Given the description of an element on the screen output the (x, y) to click on. 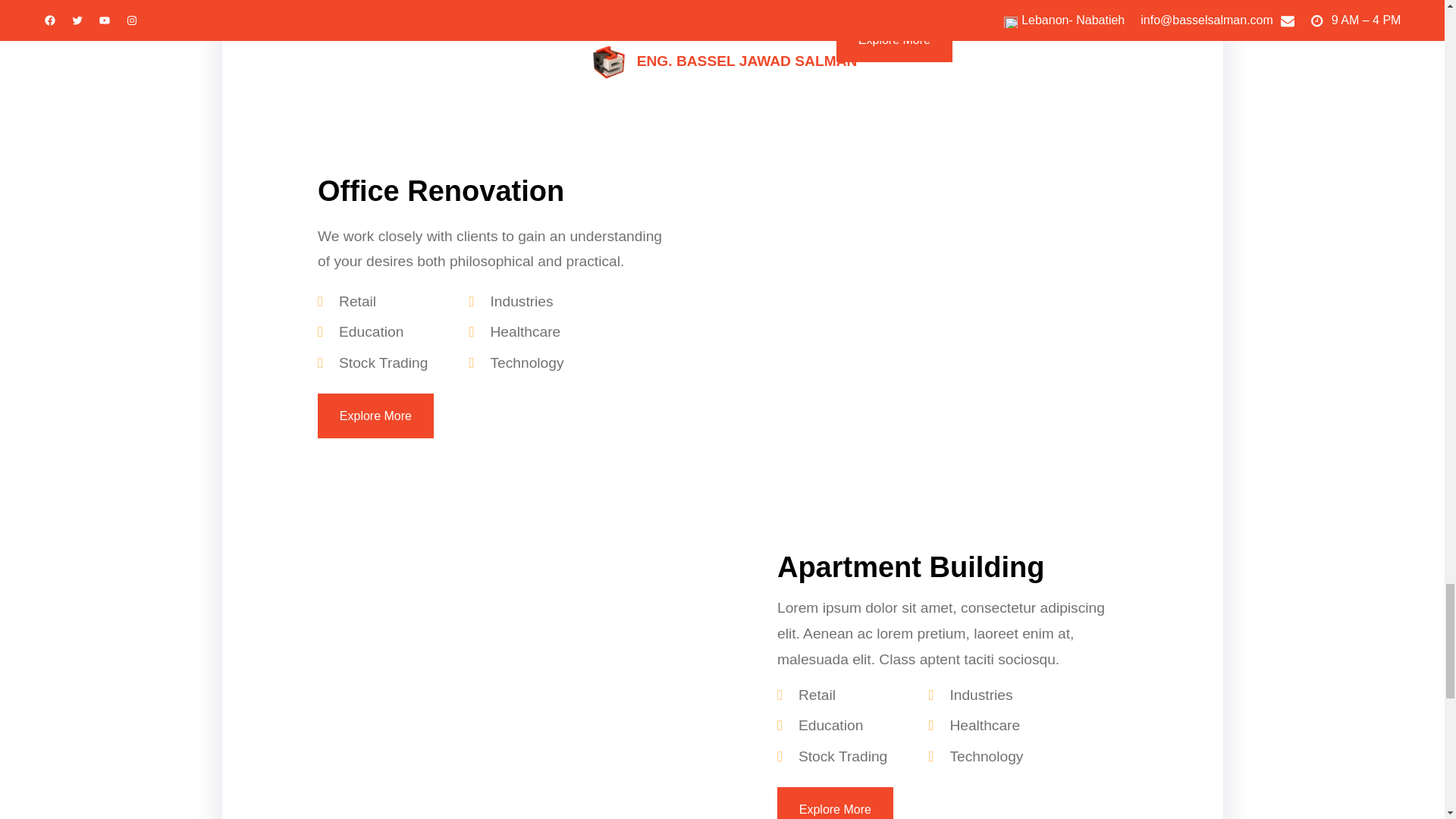
Explore More (835, 803)
Apartment Building (911, 569)
Explore More (893, 39)
Office Renovation (440, 192)
Explore More (375, 415)
